Given the description of an element on the screen output the (x, y) to click on. 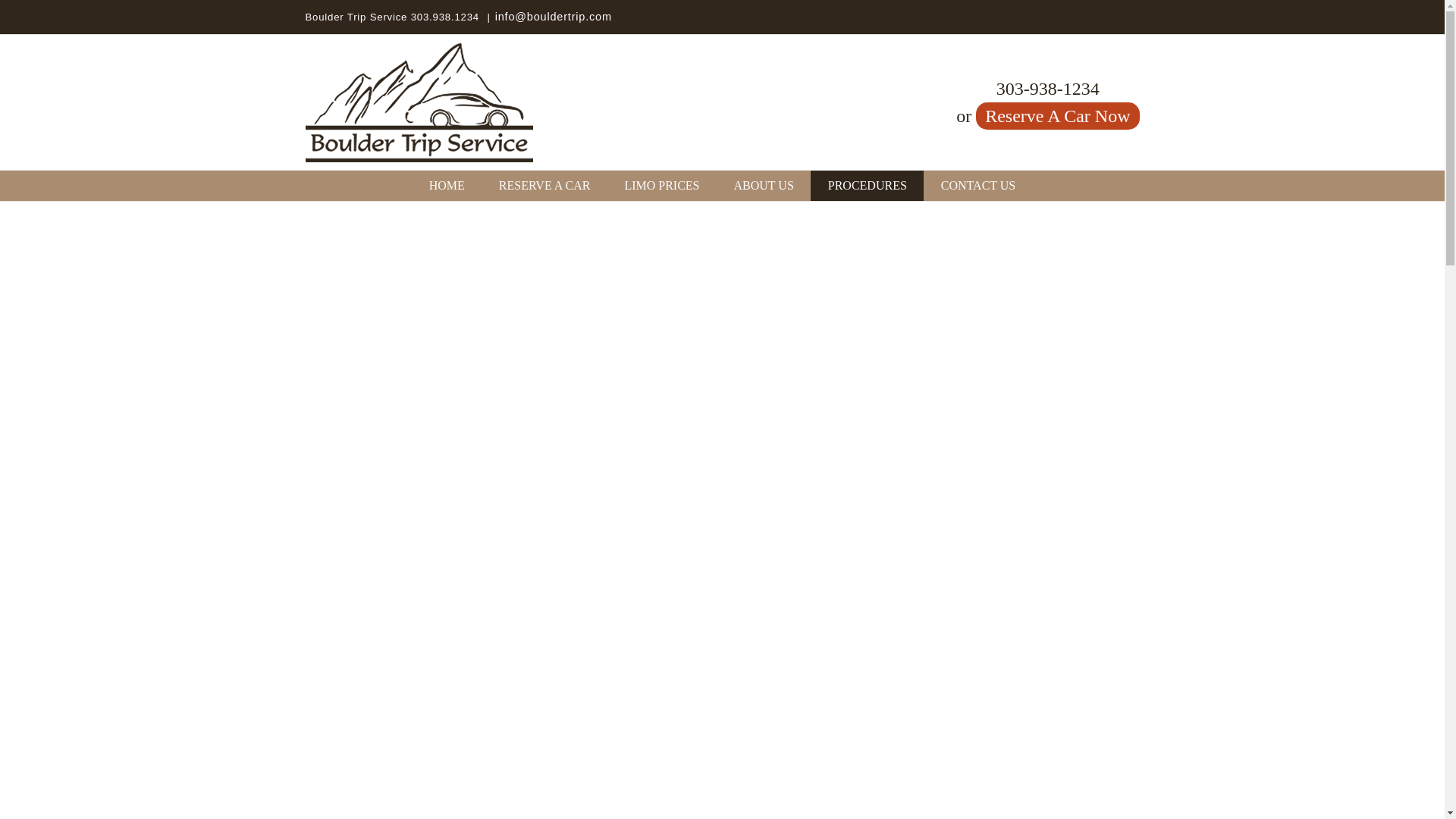
RESERVE A CAR (544, 185)
ABOUT US (763, 185)
HOME (446, 185)
Reserve A Car Now (1056, 115)
CONTACT US (977, 185)
PROCEDURES (866, 185)
LIMO PRICES (661, 185)
